Given the description of an element on the screen output the (x, y) to click on. 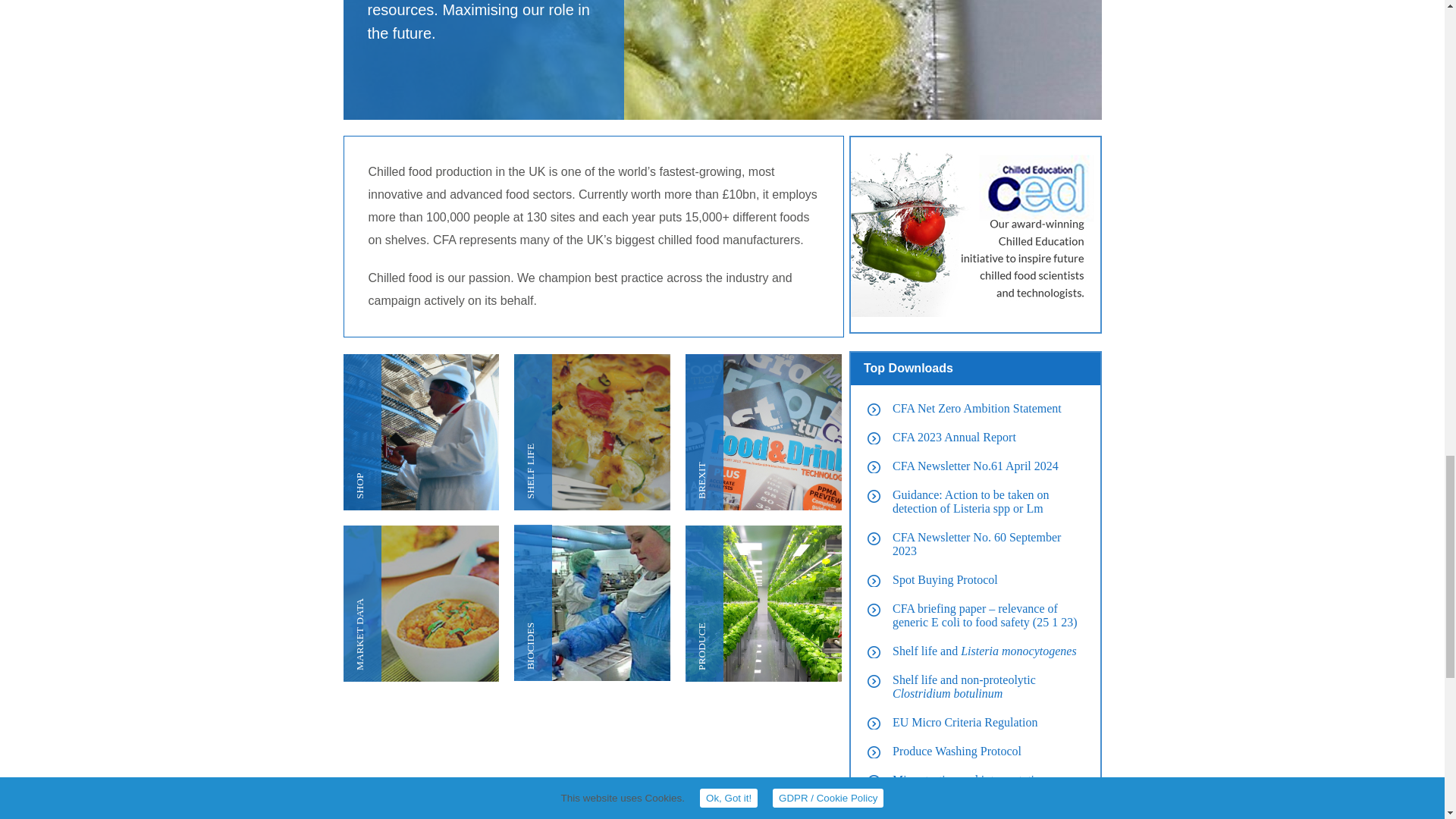
SHELF LIFE (591, 431)
BIOCIDES (591, 603)
Spot Buying Protocol (944, 579)
CFA Newsletter No.61 April 2024 (975, 465)
BREXIT (763, 431)
Shelf life and non-proteolytic Clostridium botulinum (963, 686)
CFA Net Zero Ambition Statement (976, 408)
Shelf life and Listeria monocytogenes (984, 650)
CFA 2023 Annual Report (954, 436)
